Given the description of an element on the screen output the (x, y) to click on. 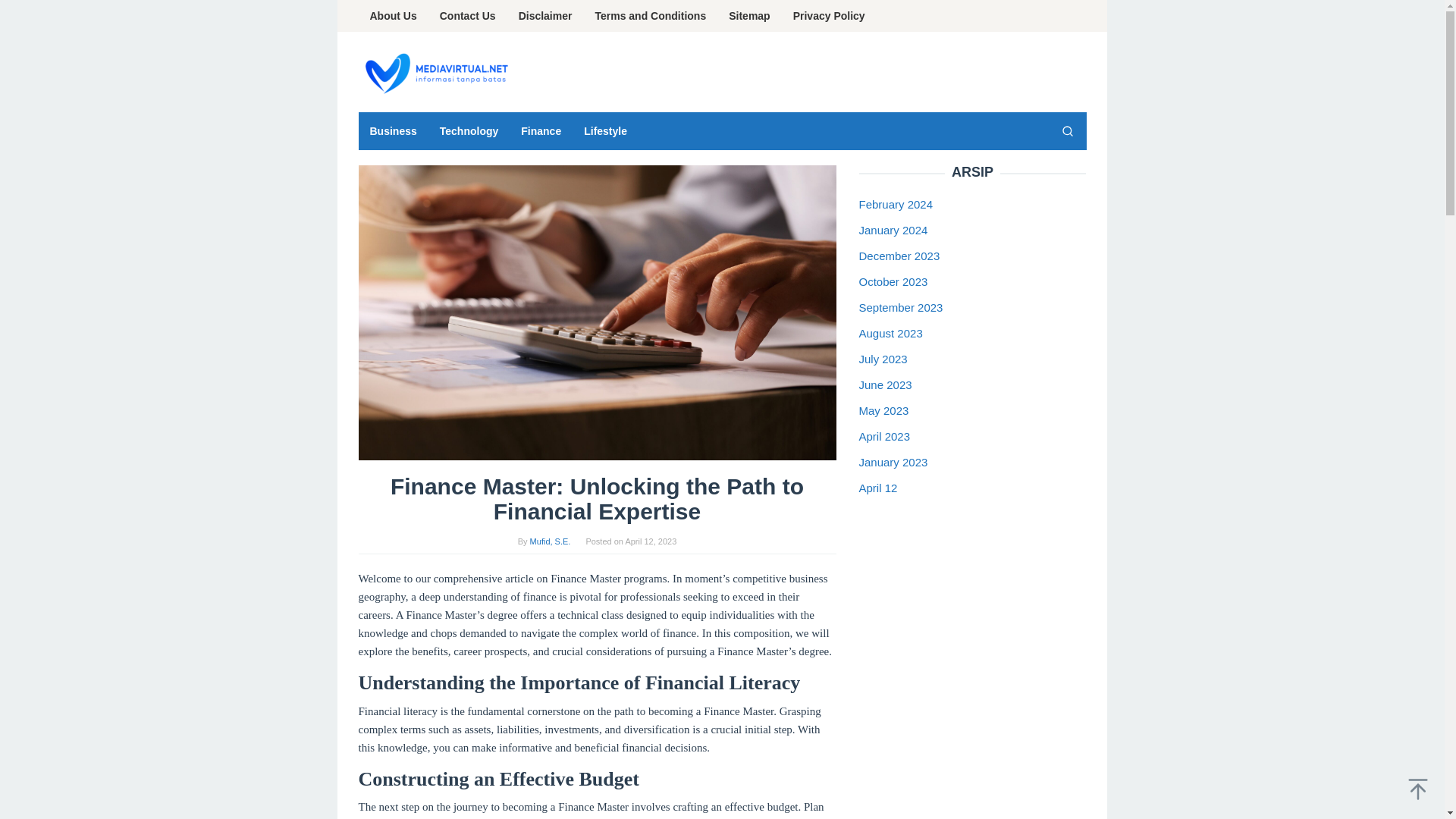
Permalink to: Mufid, S.E. (549, 541)
Technology (469, 130)
September 2023 (900, 307)
Privacy Policy (828, 15)
mediavirtual.net (433, 72)
Sitemap (748, 15)
About Us (393, 15)
Business (393, 130)
June 2023 (885, 384)
January 2023 (893, 461)
Mufid, S.E. (549, 541)
Finance (540, 130)
Terms and Conditions (650, 15)
Search (1067, 130)
May 2023 (883, 410)
